Given the description of an element on the screen output the (x, y) to click on. 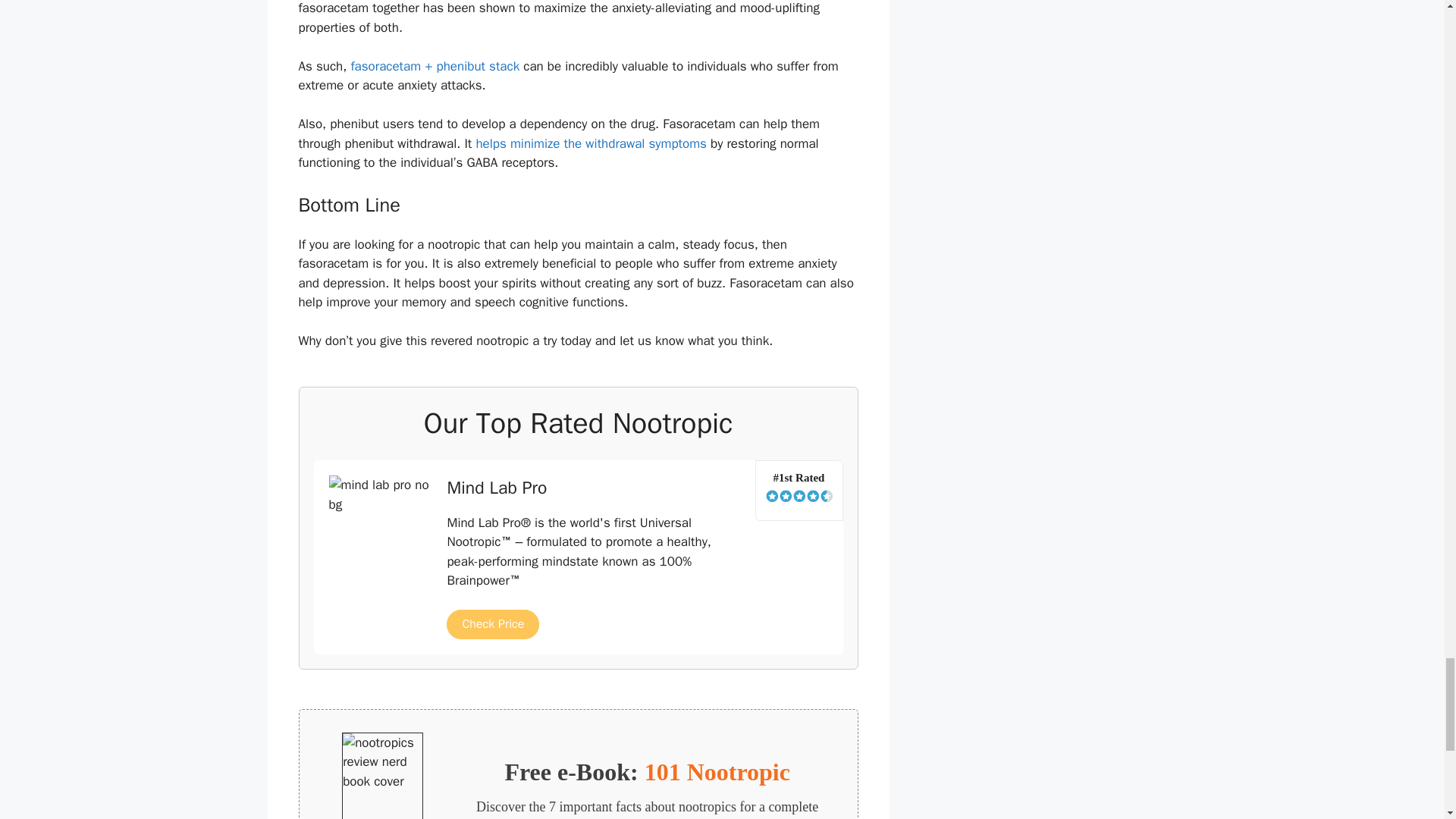
mind lab pro no bg (380, 518)
nootropics review nerd book cover (382, 776)
Check Price (492, 624)
helps minimize the withdrawal symptoms (591, 143)
